Given the description of an element on the screen output the (x, y) to click on. 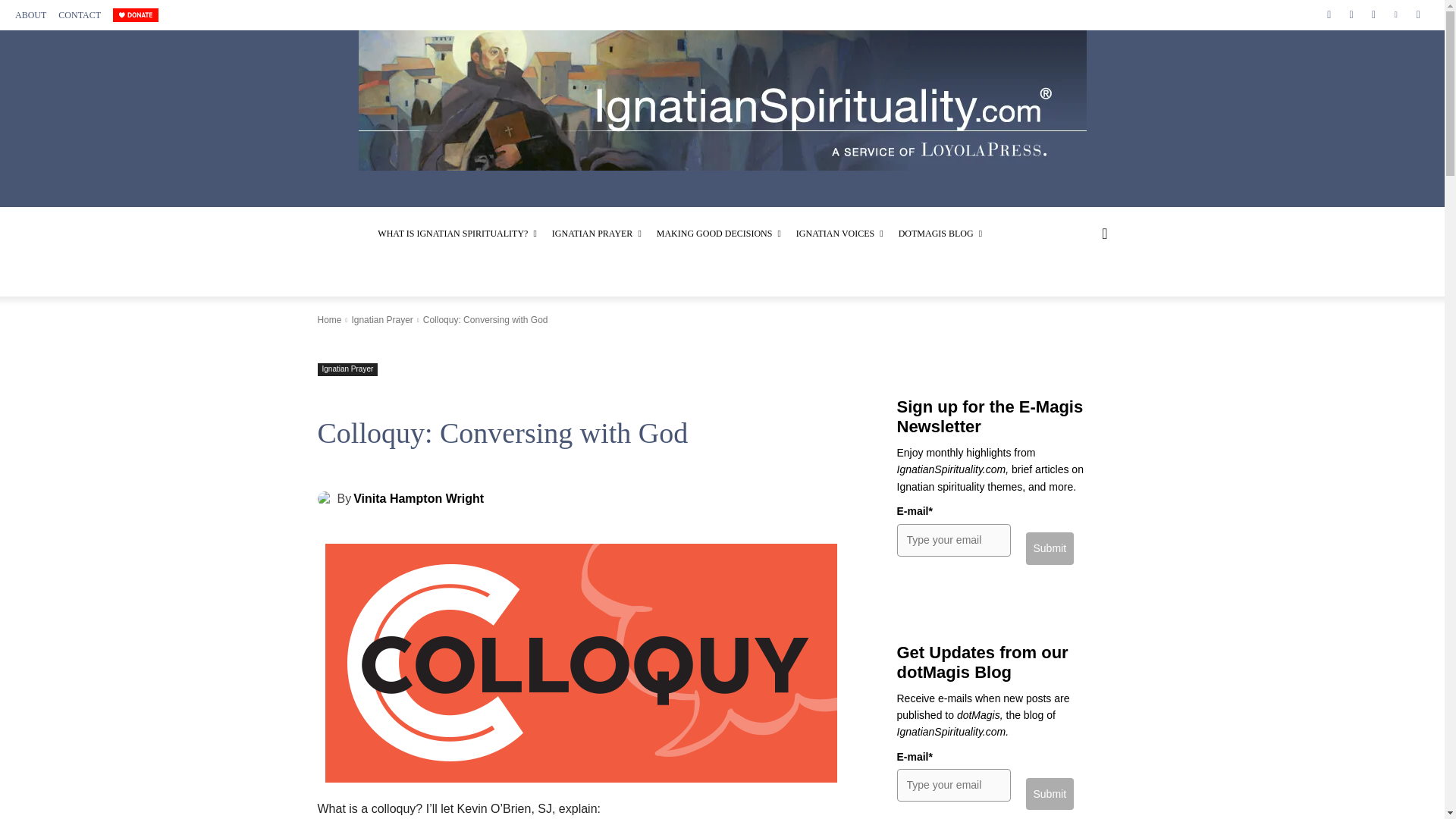
Facebook (1328, 14)
Instagram (1350, 14)
Youtube (1418, 14)
Vimeo (1395, 14)
CONTACT (79, 15)
ABOUT (30, 15)
Twitter (1373, 14)
